Given the description of an element on the screen output the (x, y) to click on. 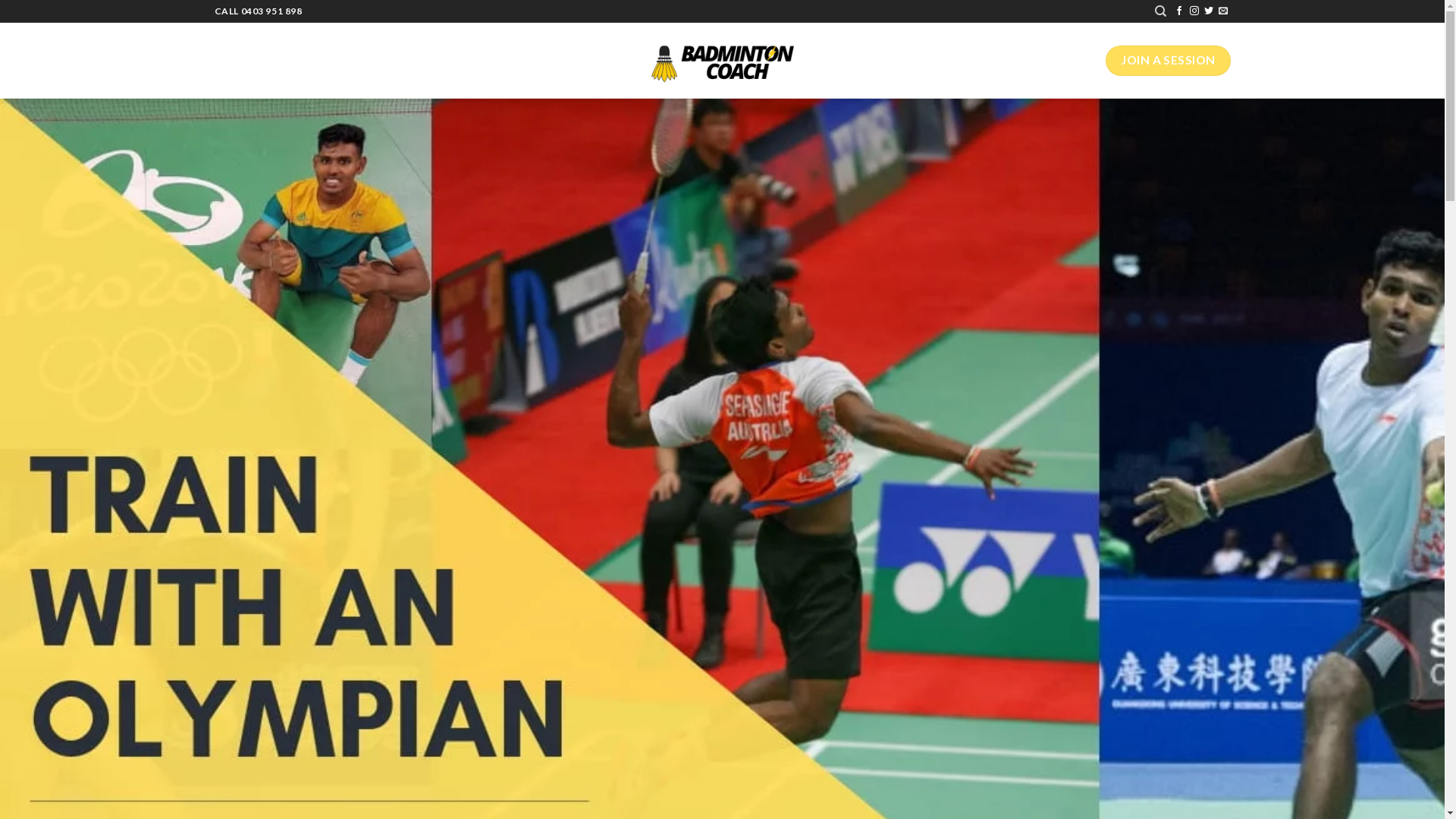
Follow on Twitter Element type: hover (1208, 11)
JOIN A SESSION Element type: text (1167, 60)
Send us an email Element type: hover (1222, 11)
Melbourne Badminton Coach - Personalised Badminton Training Element type: hover (721, 60)
Follow on Facebook Element type: hover (1178, 11)
Follow on Instagram Element type: hover (1193, 11)
